Given the description of an element on the screen output the (x, y) to click on. 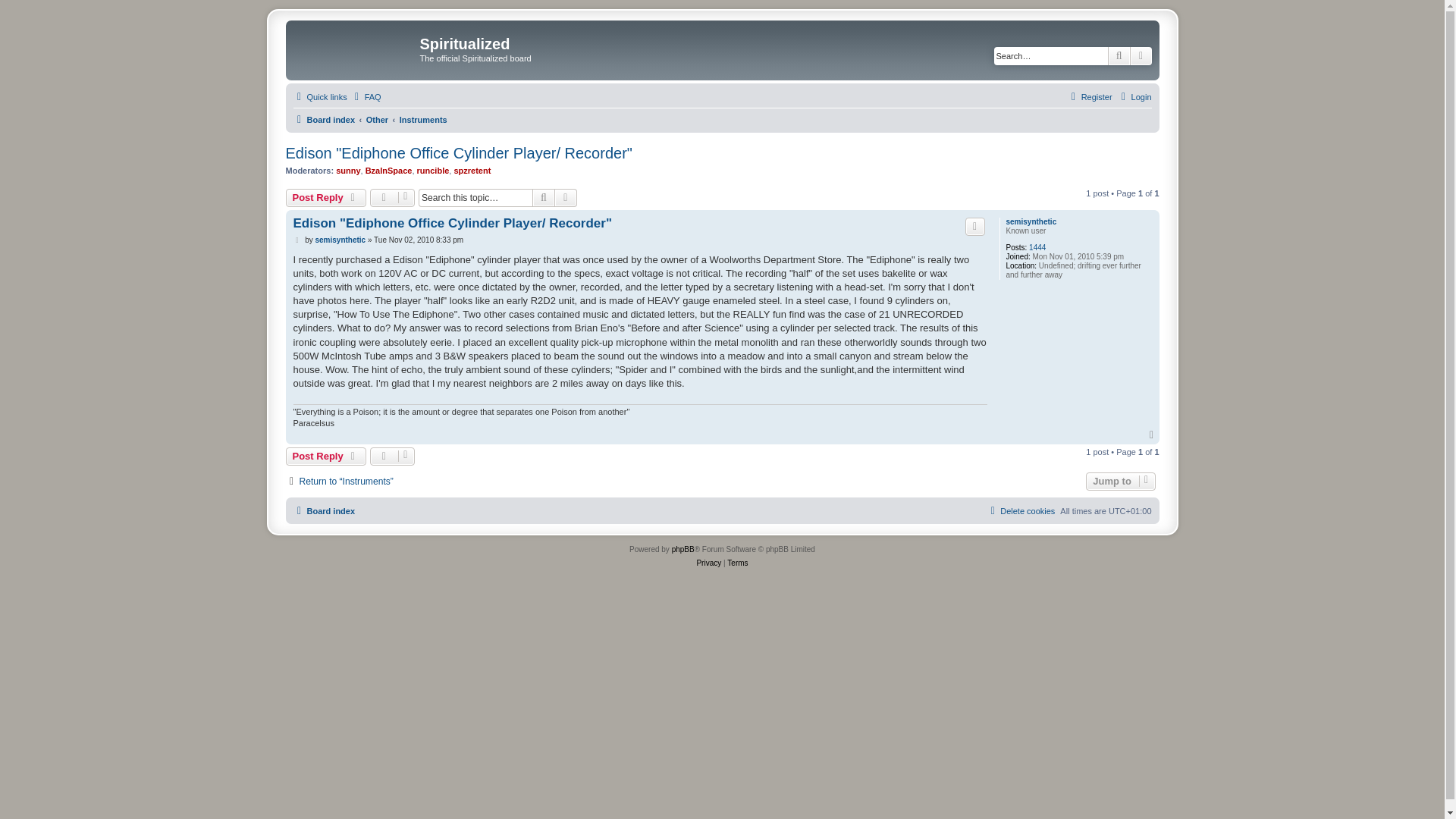
Login (1134, 96)
Reply with quote (975, 226)
Board index (323, 119)
semisynthetic (1031, 221)
Login (1134, 96)
Quote (975, 226)
Instruments (422, 119)
Advanced search (565, 198)
FAQ (365, 96)
Other (377, 119)
